Given the description of an element on the screen output the (x, y) to click on. 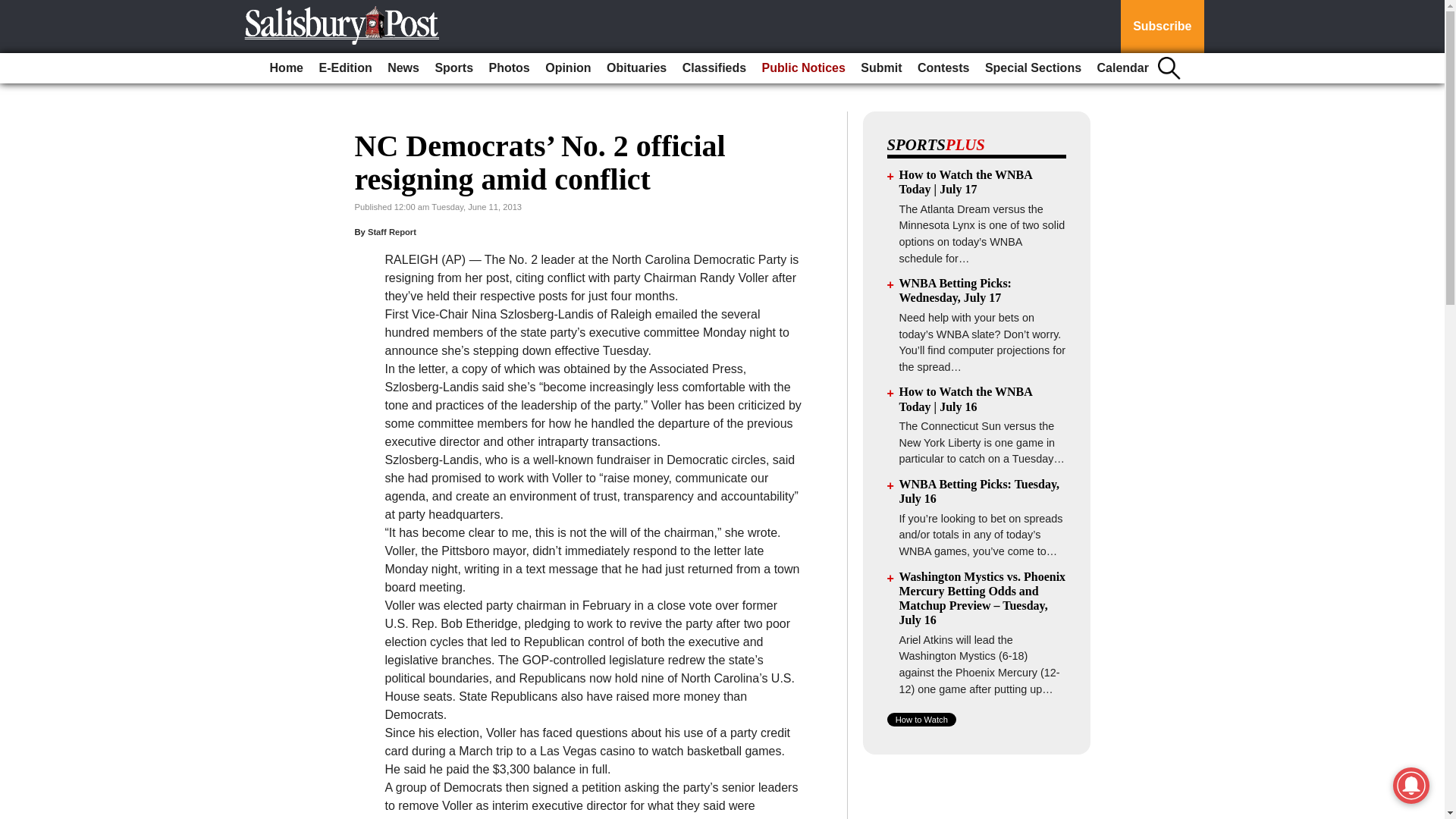
Opinion (567, 68)
Classifieds (714, 68)
News (403, 68)
Submit (880, 68)
Special Sections (1032, 68)
Contests (943, 68)
Sports (453, 68)
Public Notices (803, 68)
Subscribe (1162, 26)
Obituaries (635, 68)
Home (285, 68)
E-Edition (345, 68)
Photos (509, 68)
